Given the description of an element on the screen output the (x, y) to click on. 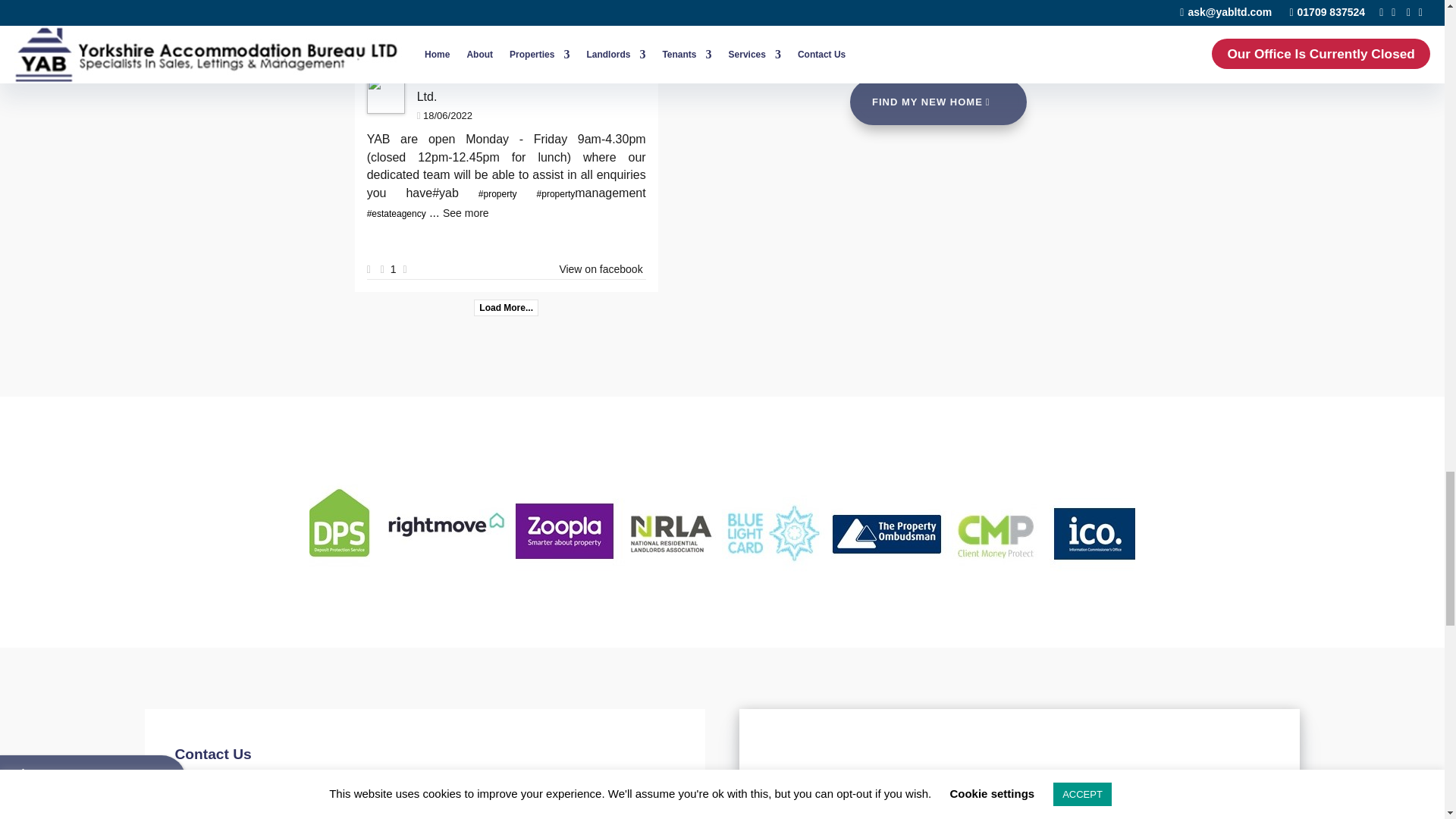
View on facebook (600, 32)
View on facebook (600, 268)
